Given the description of an element on the screen output the (x, y) to click on. 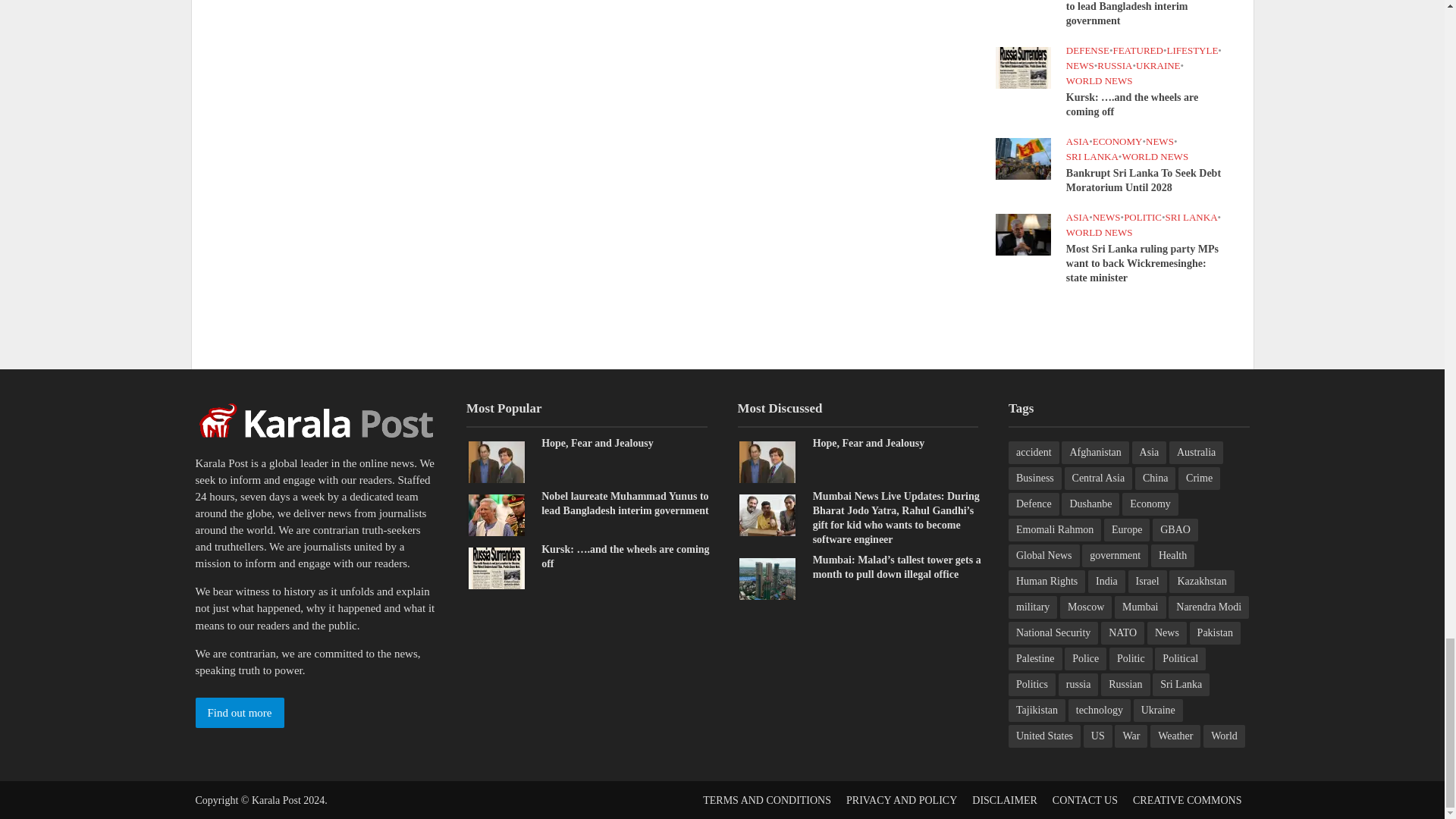
Hope, Fear and Jealousy (496, 460)
Bankrupt Sri Lanka To Seek Debt Moratorium Until 2028 (1021, 157)
Hope, Fear and Jealousy (766, 460)
